Given the description of an element on the screen output the (x, y) to click on. 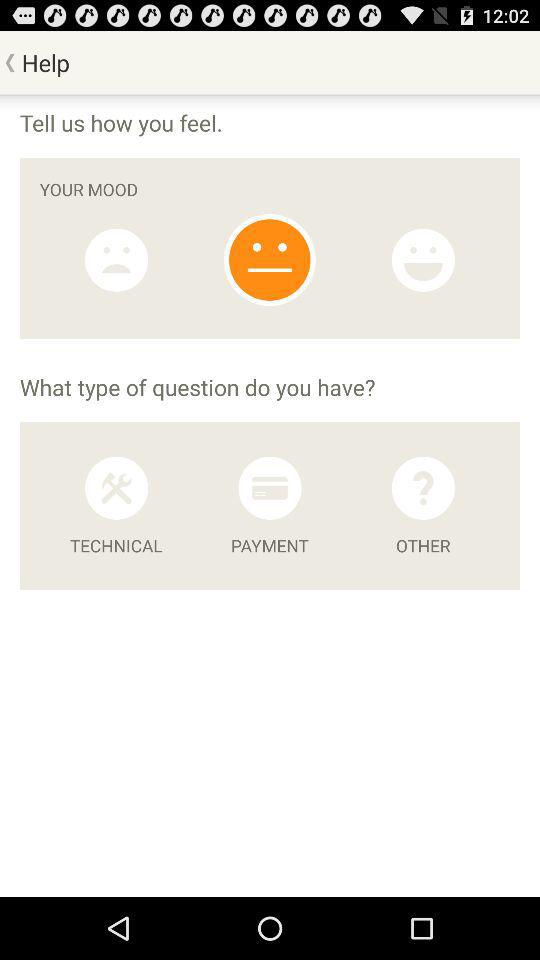
select mood option (269, 260)
